Given the description of an element on the screen output the (x, y) to click on. 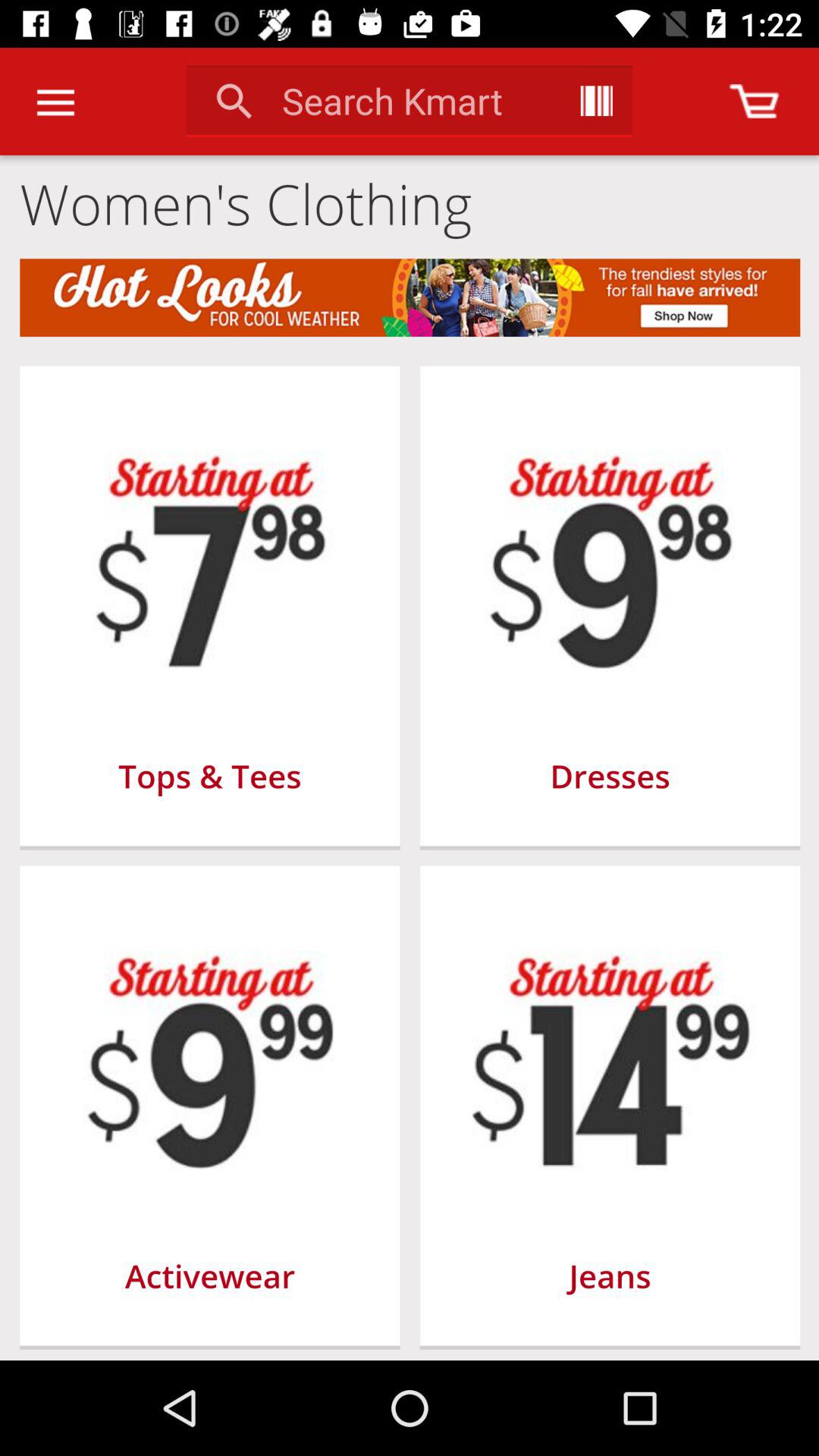
search by barcode (596, 100)
